Given the description of an element on the screen output the (x, y) to click on. 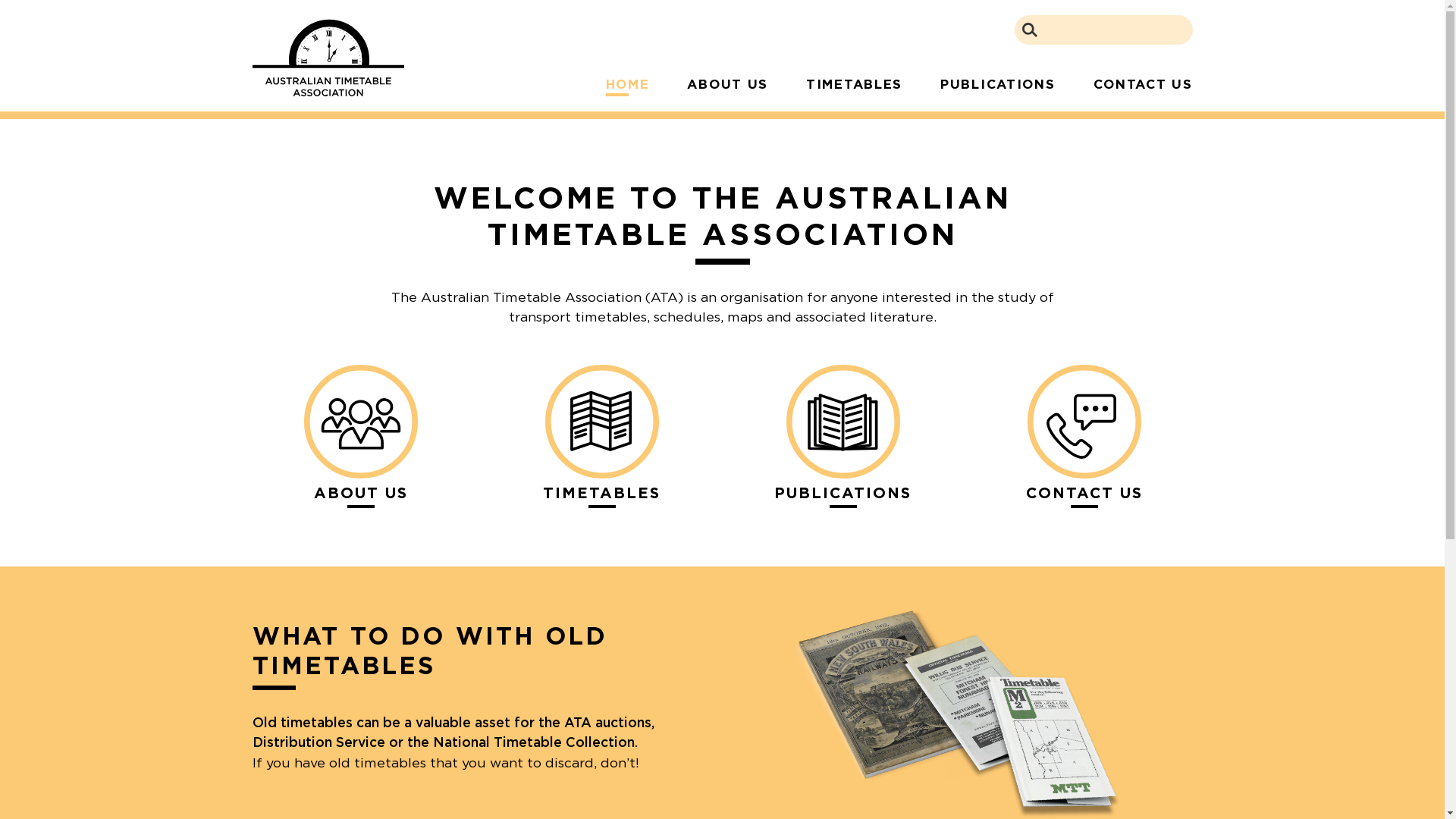
PUBLICATIONS Element type: text (842, 495)
ABOUT US Element type: text (727, 84)
CONTACT US Element type: text (1132, 84)
CONTACT US Element type: text (1083, 495)
ABOUT US Element type: text (359, 495)
TIMETABLES Element type: text (600, 495)
TIMETABLES Element type: text (854, 84)
HOME Element type: text (636, 86)
PUBLICATIONS Element type: text (997, 84)
